Given the description of an element on the screen output the (x, y) to click on. 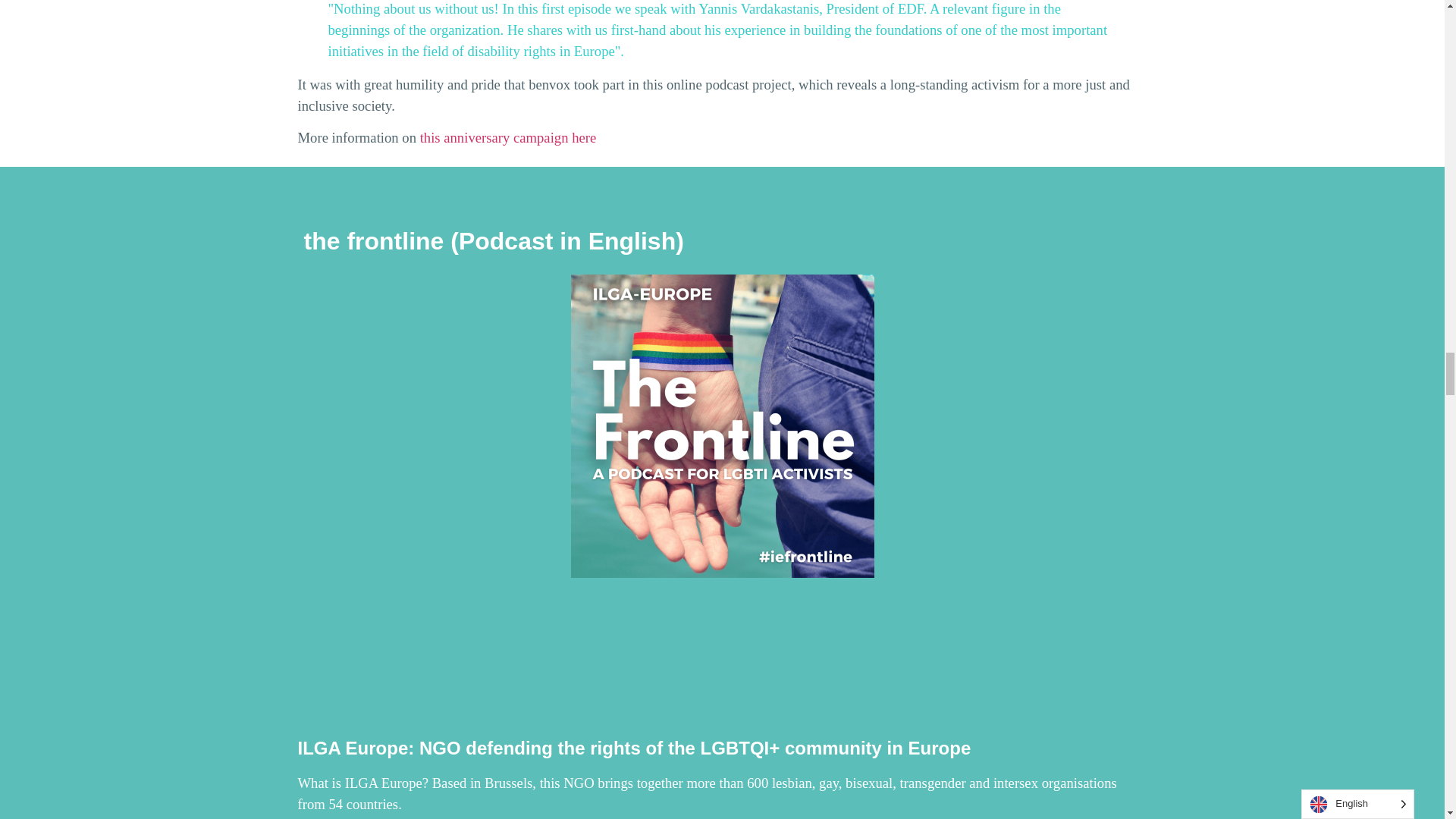
this anniversary campaign here (508, 137)
The Frontline icon (721, 426)
